Given the description of an element on the screen output the (x, y) to click on. 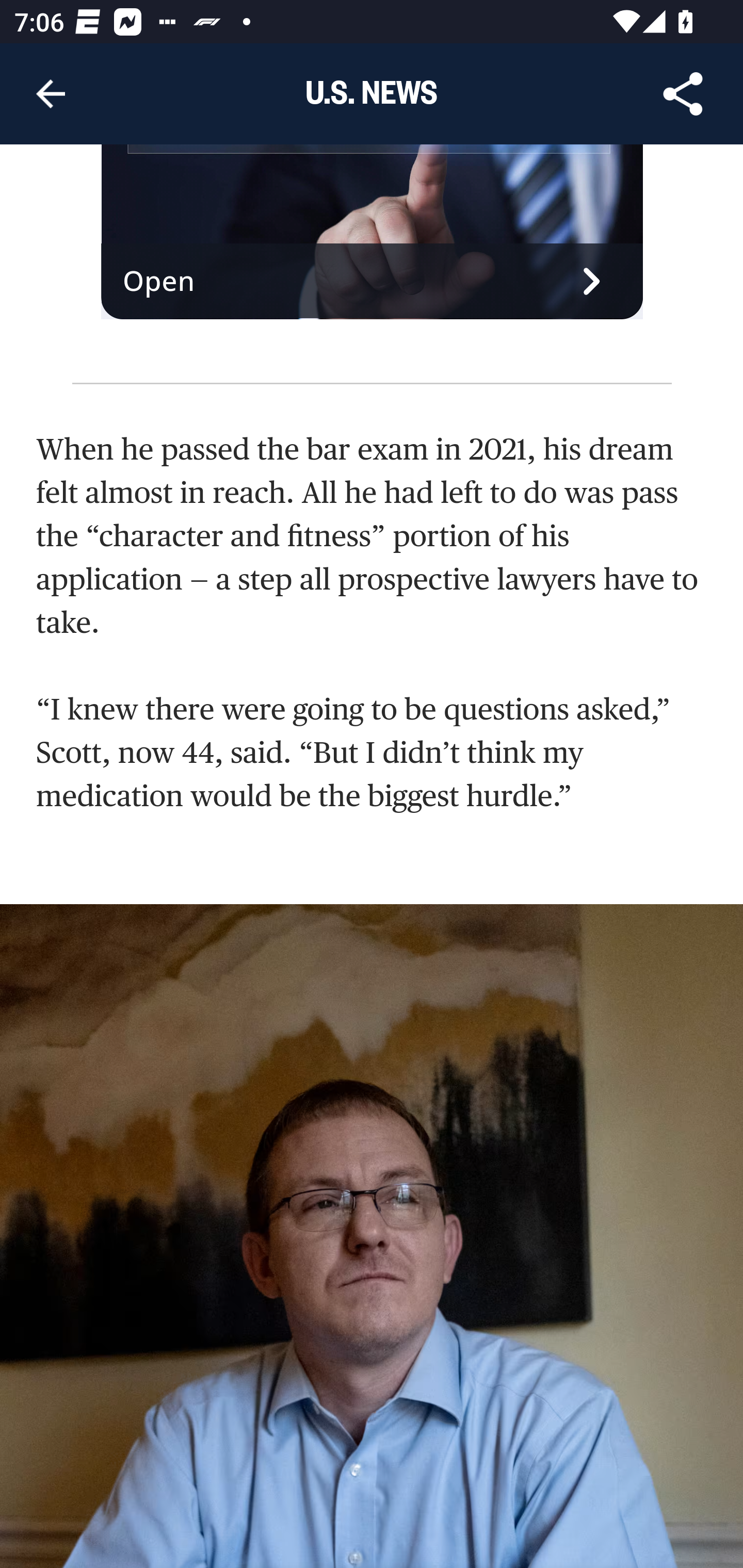
Navigate up (50, 93)
Share Article, button (683, 94)
Open (372, 282)
